Given the description of an element on the screen output the (x, y) to click on. 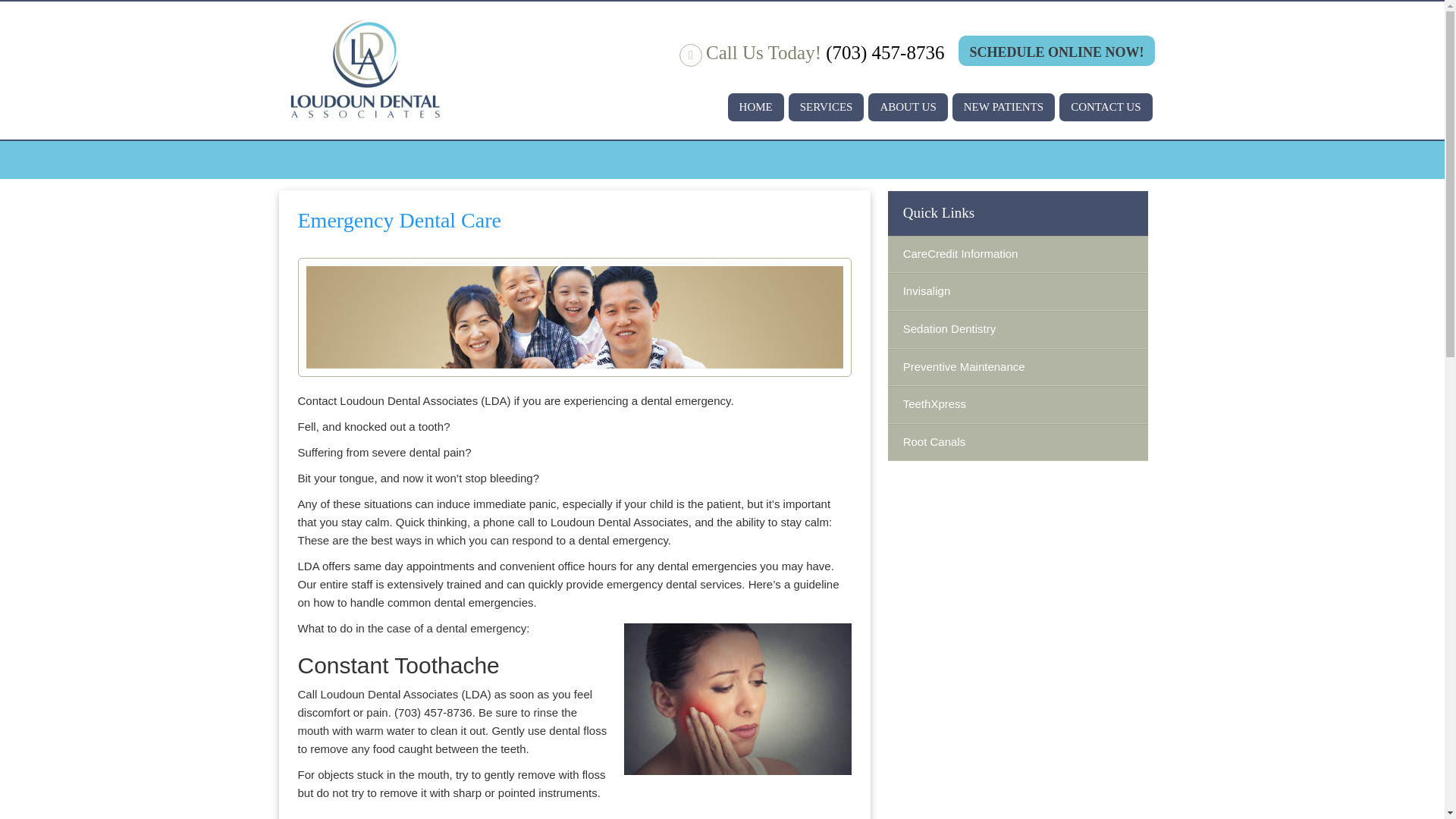
CONTACT US (1105, 107)
HOME (756, 107)
NEW PATIENTS (1003, 107)
ABOUT US (907, 107)
SCHEDULE ONLINE NOW! (1056, 51)
SERVICES (826, 107)
